Given the description of an element on the screen output the (x, y) to click on. 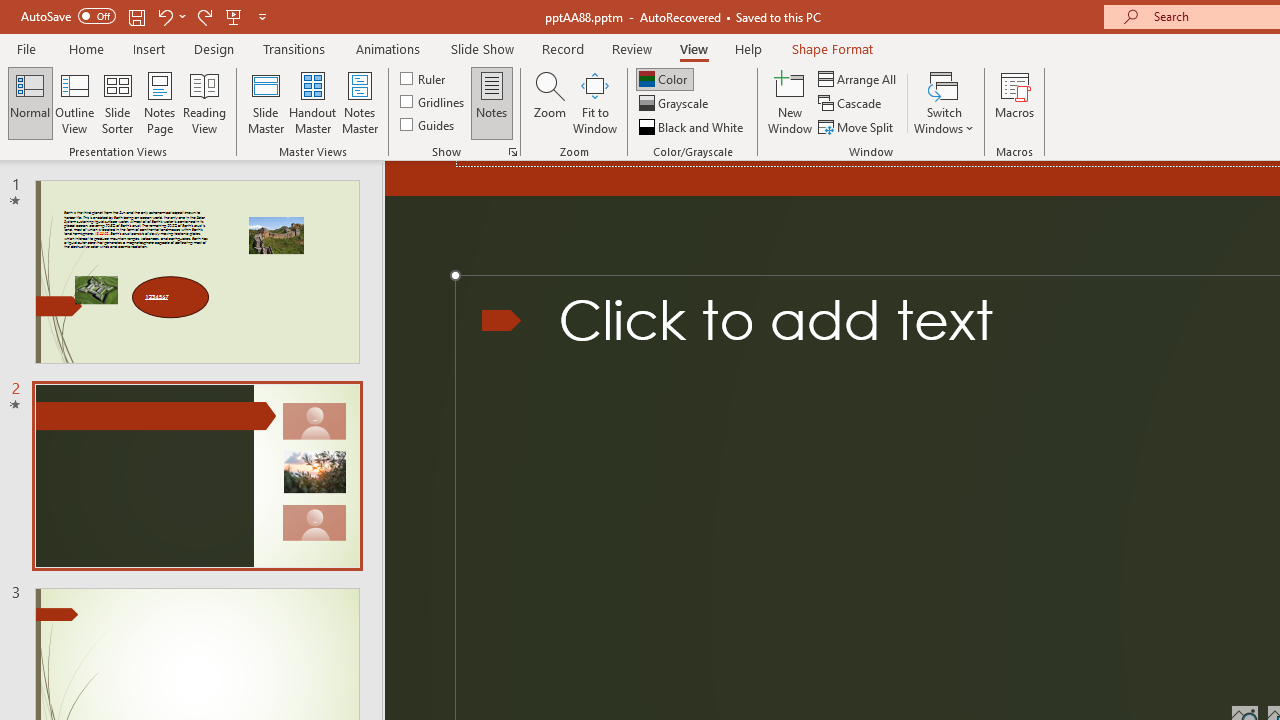
Cascade (851, 103)
Fit to Window (594, 102)
Macros (1014, 102)
Outline View (74, 102)
Zoom... (549, 102)
New Window (790, 102)
Guides (428, 124)
